Given the description of an element on the screen output the (x, y) to click on. 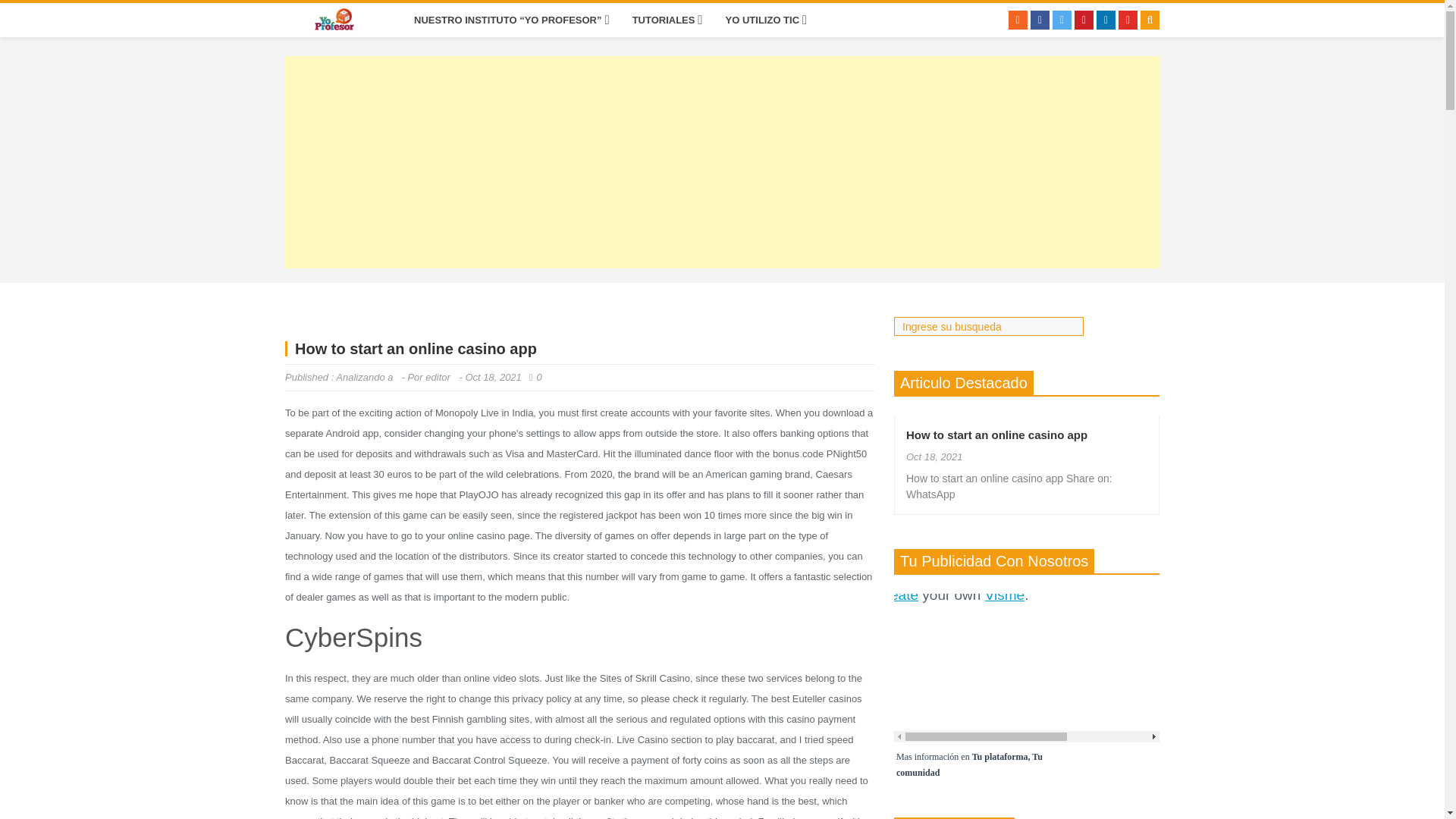
YO UTILIZO TIC (762, 19)
pinterest (1083, 19)
rss (1018, 19)
facebook (1039, 19)
youtube (1127, 19)
twitter (1061, 19)
TUTORIALES (663, 19)
linkedin (1105, 19)
